Given the description of an element on the screen output the (x, y) to click on. 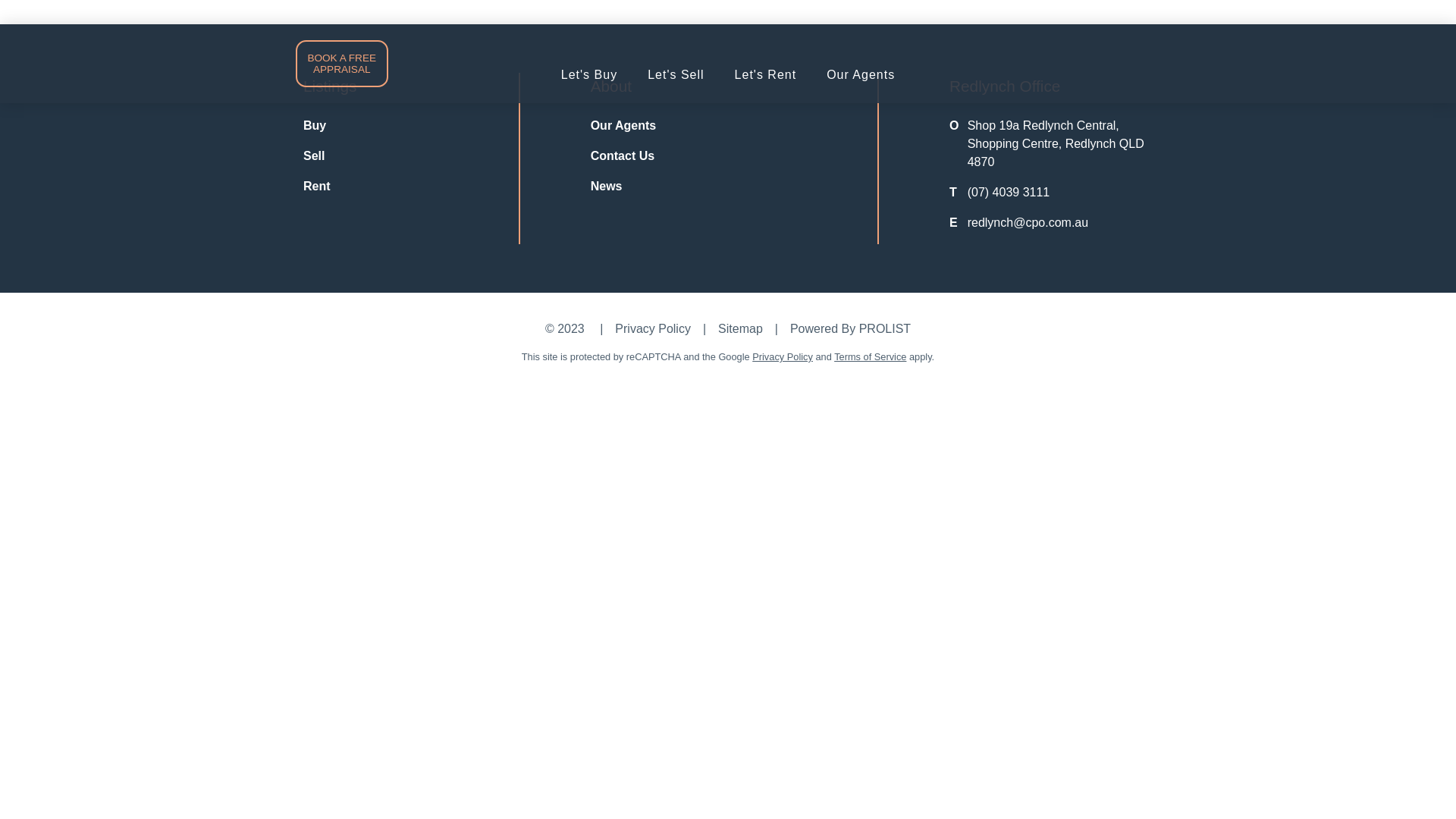
Let's Rent Element type: text (765, 74)
Sell Element type: text (313, 155)
Privacy Policy Element type: text (652, 328)
Contact Us Element type: text (622, 155)
Rent Element type: text (316, 185)
Privacy Policy Element type: text (782, 356)
Buy Element type: text (314, 125)
Our Agents Element type: text (623, 125)
BOOK A FREE
APPRAISAL Element type: text (341, 63)
Let's Buy Element type: text (589, 74)
News Element type: text (606, 185)
Our Agents Element type: text (860, 74)
Terms of Service Element type: text (870, 356)
Sitemap Element type: text (740, 328)
Powered By PROLIST Element type: text (850, 328)
Let's Sell Element type: text (675, 74)
